Given the description of an element on the screen output the (x, y) to click on. 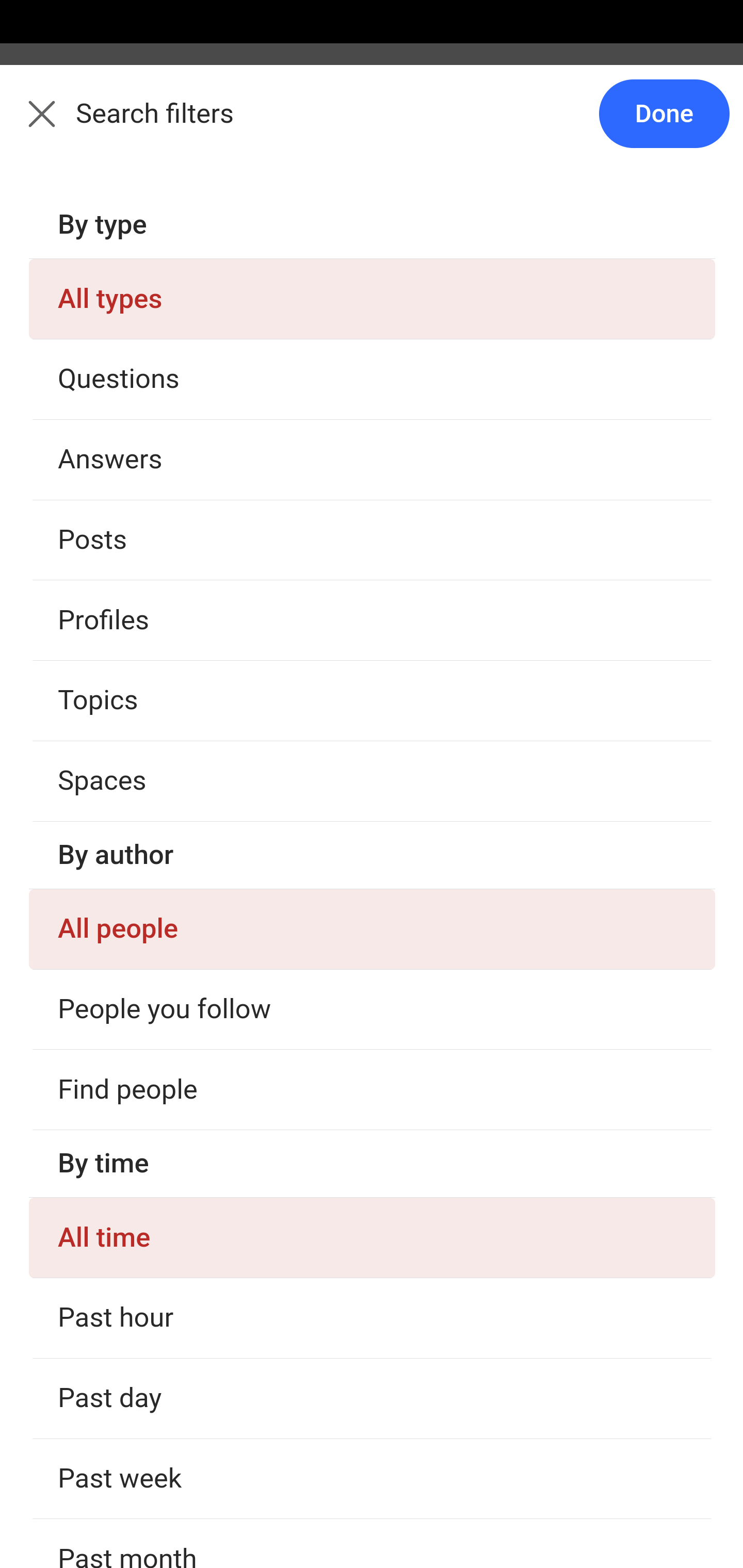
Back Search (371, 125)
Answer (125, 387)
142 answers 142  answers (90, 1244)
Answer (125, 1300)
How do I learn mathematics for machine learning? (372, 1393)
Answer (125, 1499)
